Given the description of an element on the screen output the (x, y) to click on. 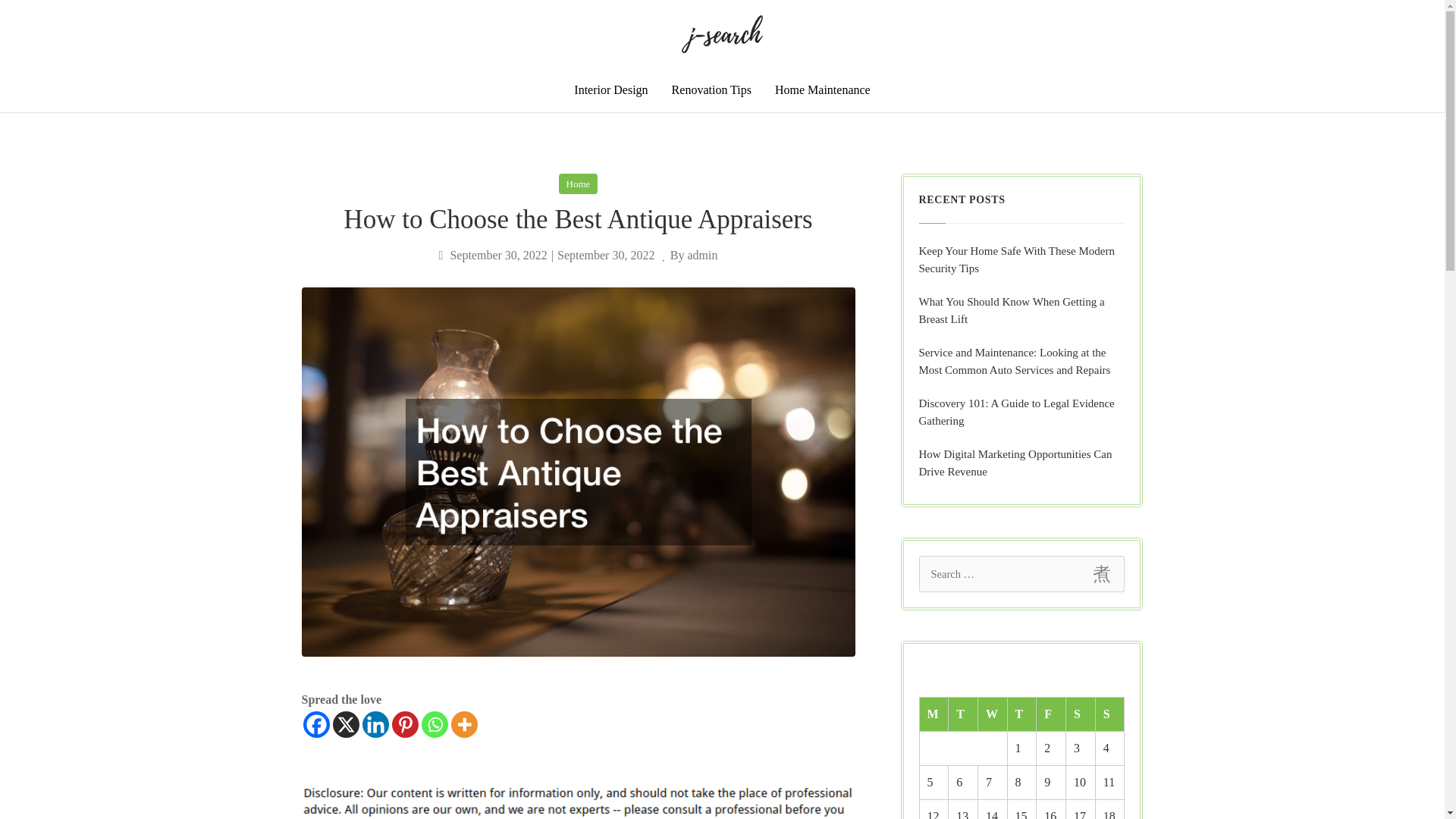
Renovation Tips (711, 89)
X (344, 724)
admin (702, 254)
Renovation Tips (711, 89)
How Digital Marketing Opportunities Can Drive Revenue (1021, 463)
Search (1101, 573)
Interior Design (610, 89)
Discovery 101: A Guide to Legal Evidence Gathering (1021, 412)
More (463, 724)
What You Should Know When Getting a Breast Lift (1021, 311)
September 30, 2022September 30, 2022 (547, 255)
Interior Design (610, 89)
Linkedin (375, 724)
Home (578, 183)
